Given the description of an element on the screen output the (x, y) to click on. 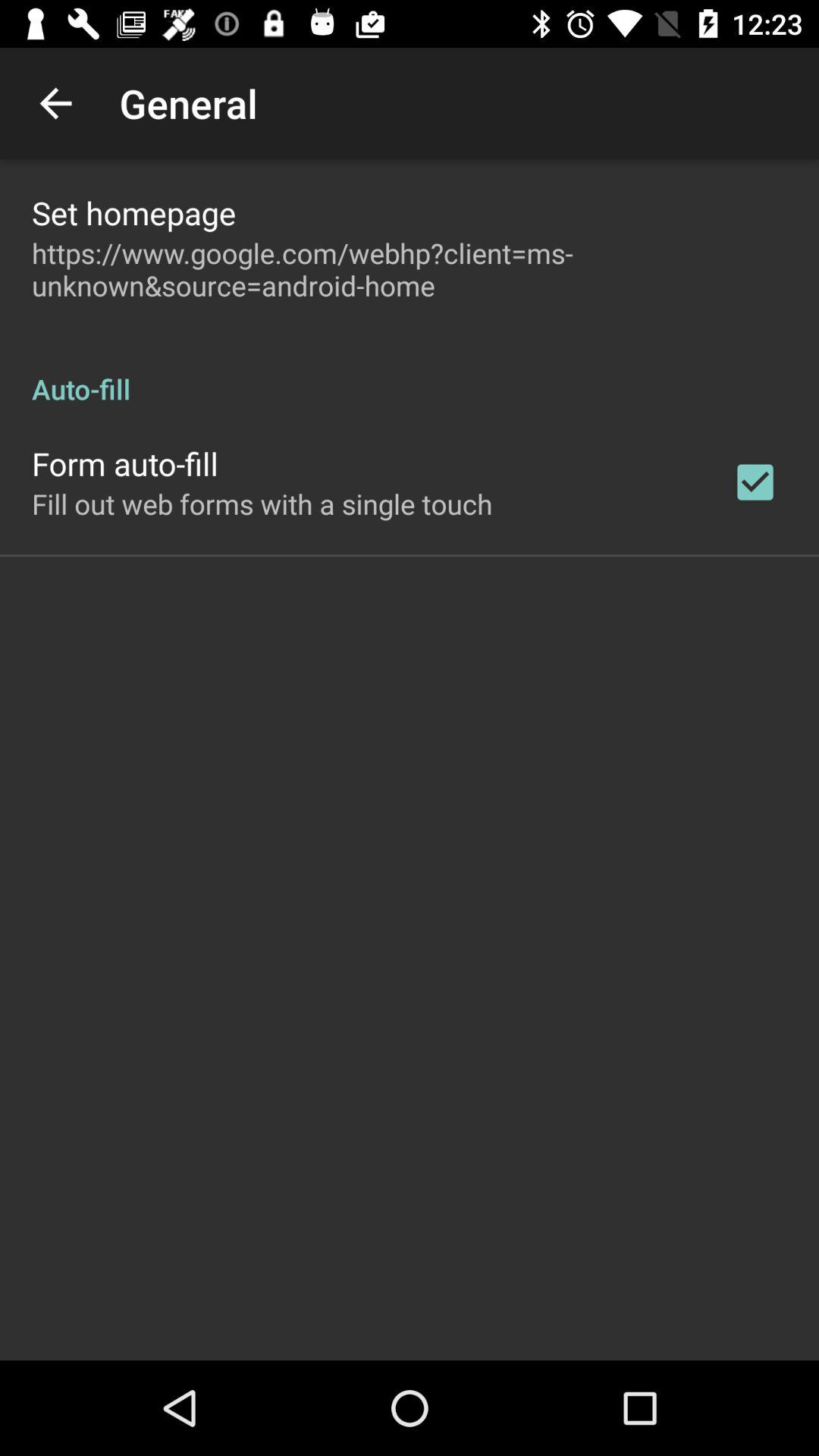
flip to the https www google icon (409, 269)
